Given the description of an element on the screen output the (x, y) to click on. 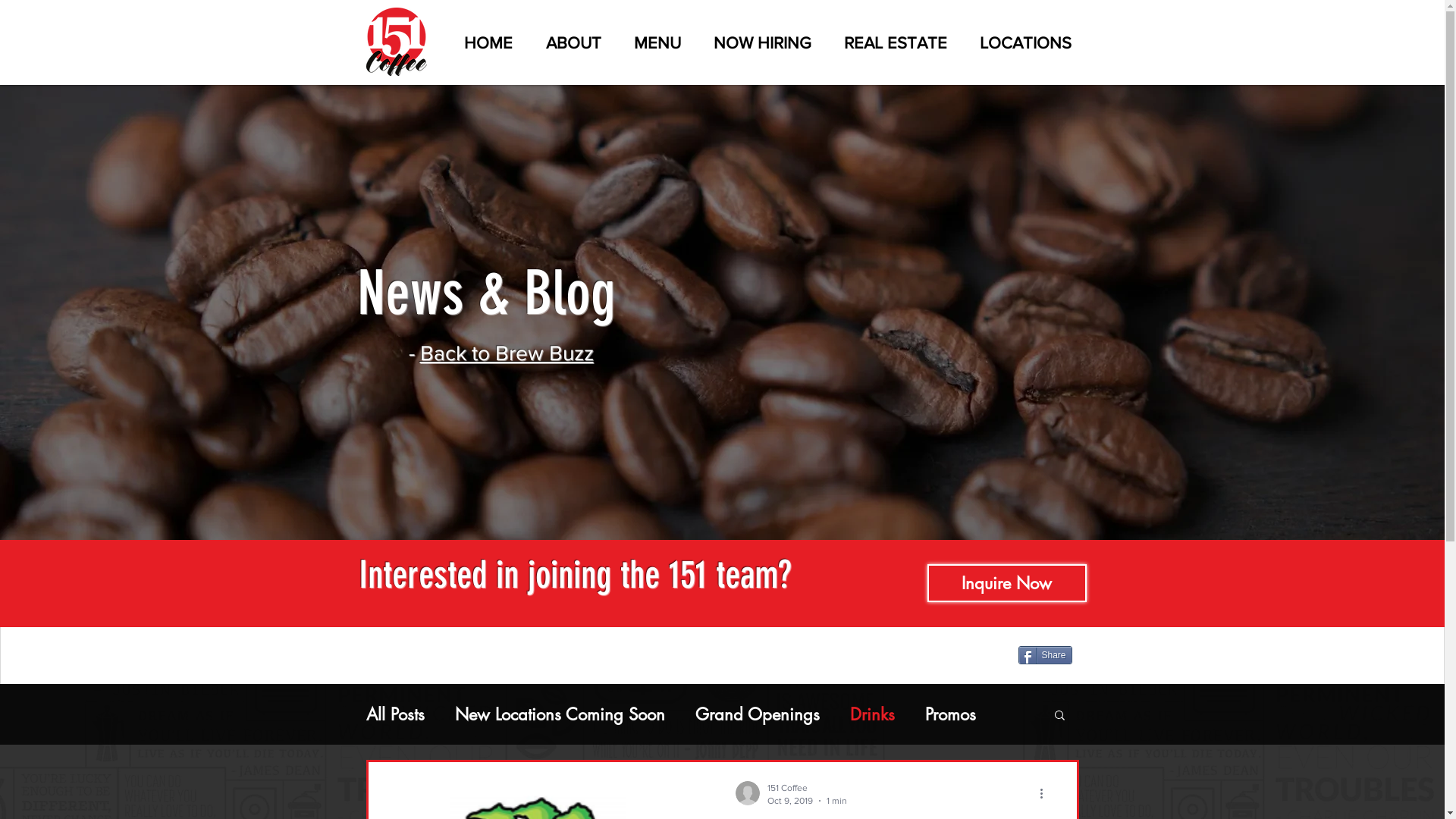
Promos Element type: text (950, 713)
Drinks Element type: text (871, 713)
All Posts Element type: text (394, 713)
Grand Openings Element type: text (756, 713)
ABOUT Element type: text (567, 42)
Share Element type: text (1044, 655)
REAL ESTATE Element type: text (889, 42)
151 Coffee Element type: text (807, 788)
- Back to Brew Buzz Element type: text (500, 352)
New Locations Coming Soon Element type: text (560, 713)
Inquire Now Element type: text (1005, 583)
HOME Element type: text (482, 42)
LOCATIONS Element type: text (1020, 42)
NOW HIRING Element type: text (756, 42)
MENU Element type: text (652, 42)
